Given the description of an element on the screen output the (x, y) to click on. 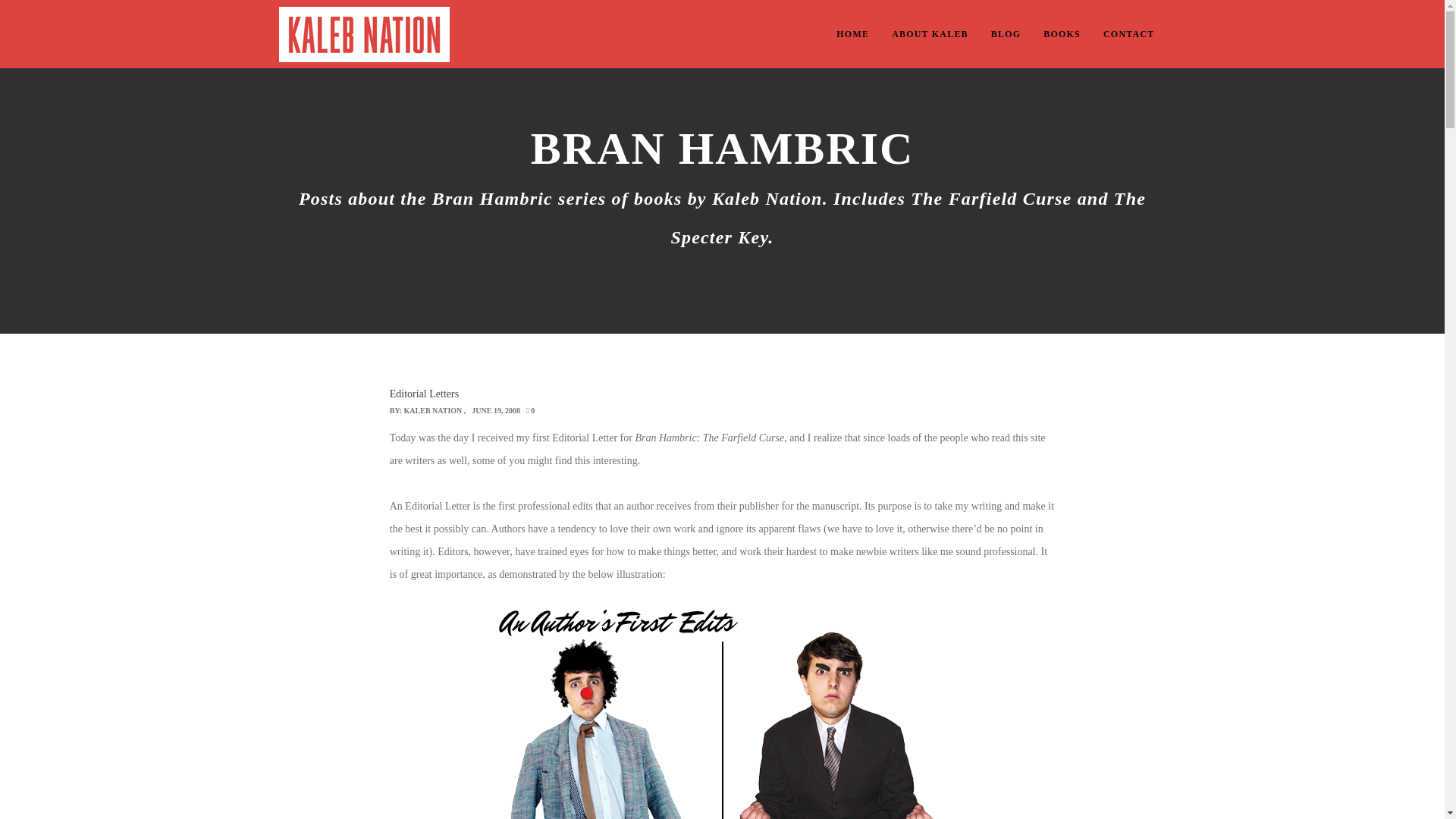
BLOG (1005, 33)
ABOUT KALEB (929, 33)
Posts by Kaleb Nation (433, 410)
HOME (852, 33)
